Given the description of an element on the screen output the (x, y) to click on. 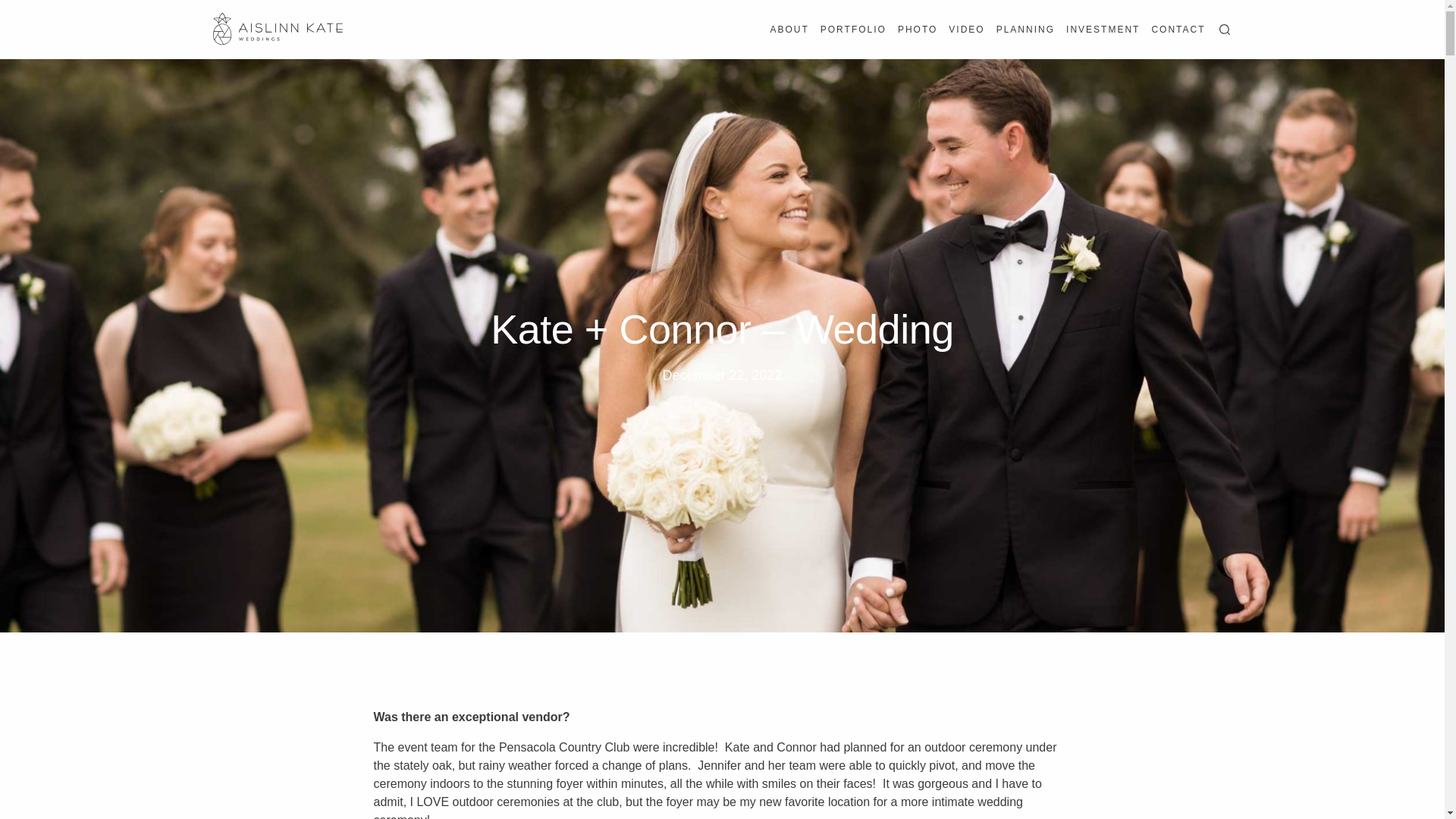
PHOTO (917, 29)
CONTACT (1178, 29)
ABOUT (789, 29)
VIDEO (966, 29)
INVESTMENT (1102, 29)
PLANNING (1024, 29)
PORTFOLIO (853, 29)
